Given the description of an element on the screen output the (x, y) to click on. 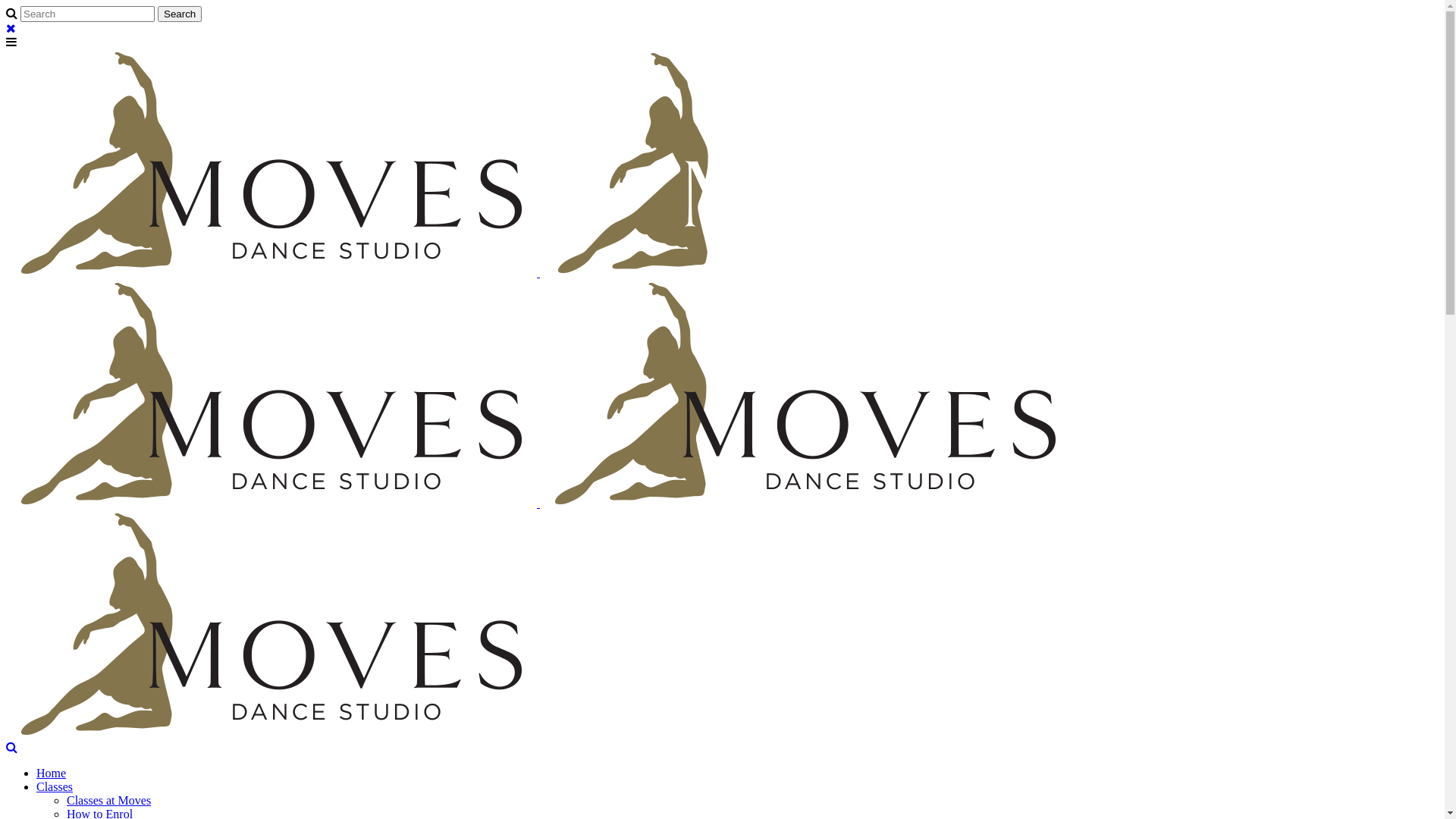
Classes at Moves Element type: text (108, 799)
Search Element type: text (179, 13)
Classes Element type: text (54, 786)
Home Element type: text (50, 772)
